Given the description of an element on the screen output the (x, y) to click on. 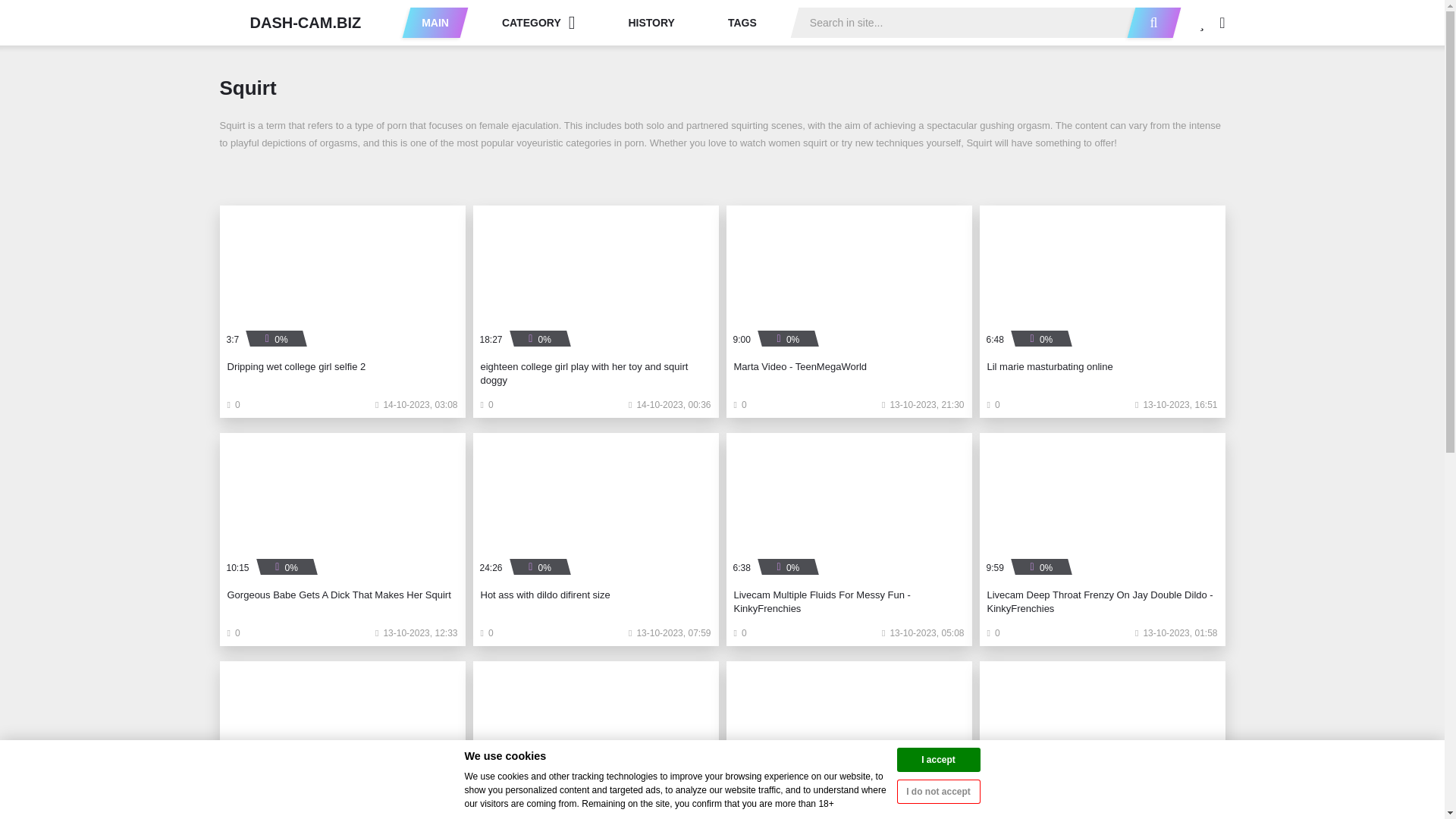
MAIN (435, 22)
DASH-CAM.BIZ (290, 22)
CATEGORY (538, 22)
